Given the description of an element on the screen output the (x, y) to click on. 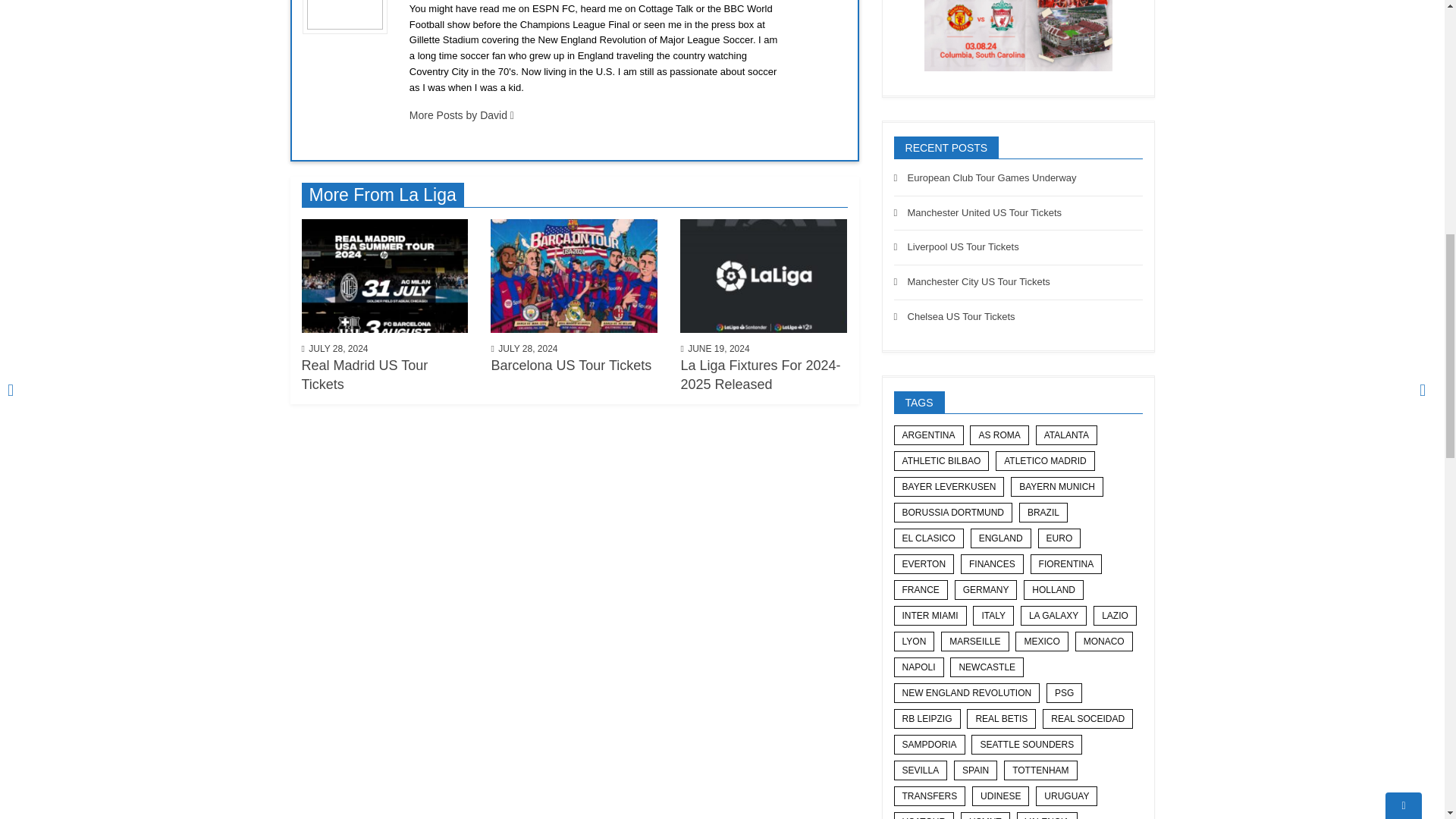
La Liga Fixtures For 2024-2025 Released (763, 275)
Real Madrid US Tour Tickets (384, 275)
Barcelona US Tour Tickets (574, 275)
